Given the description of an element on the screen output the (x, y) to click on. 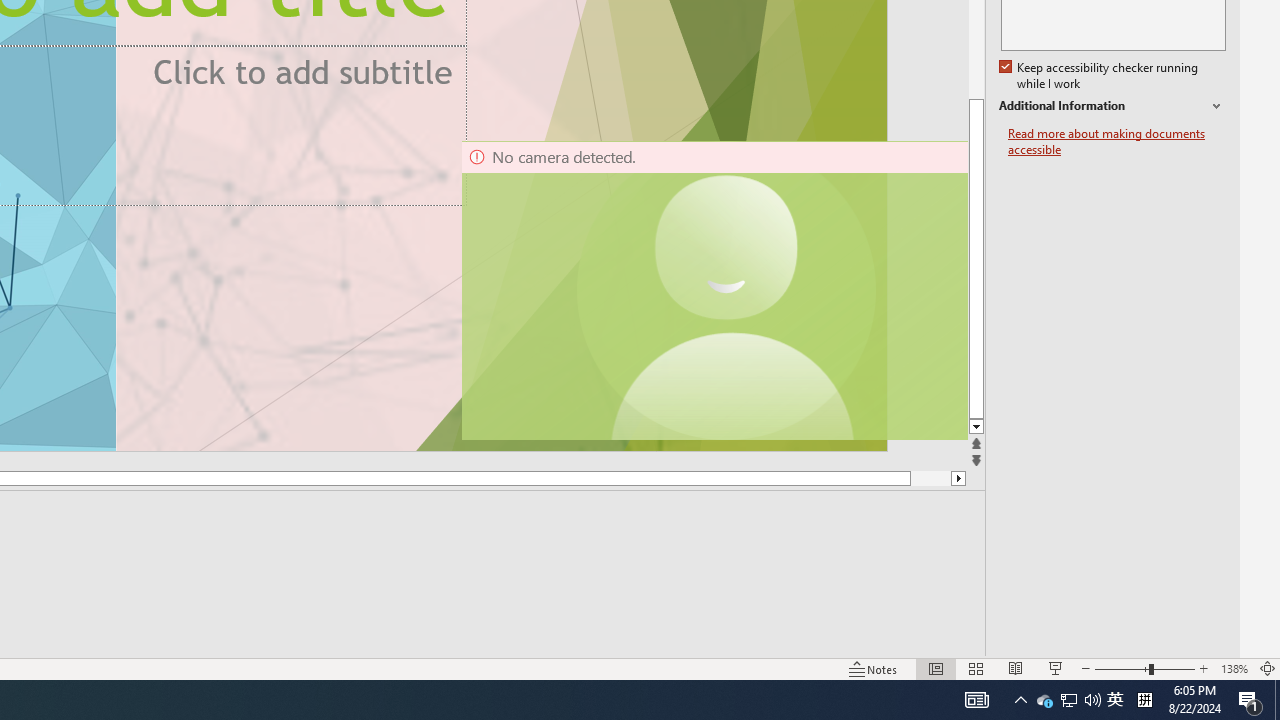
Zoom 138% (1234, 668)
